Given the description of an element on the screen output the (x, y) to click on. 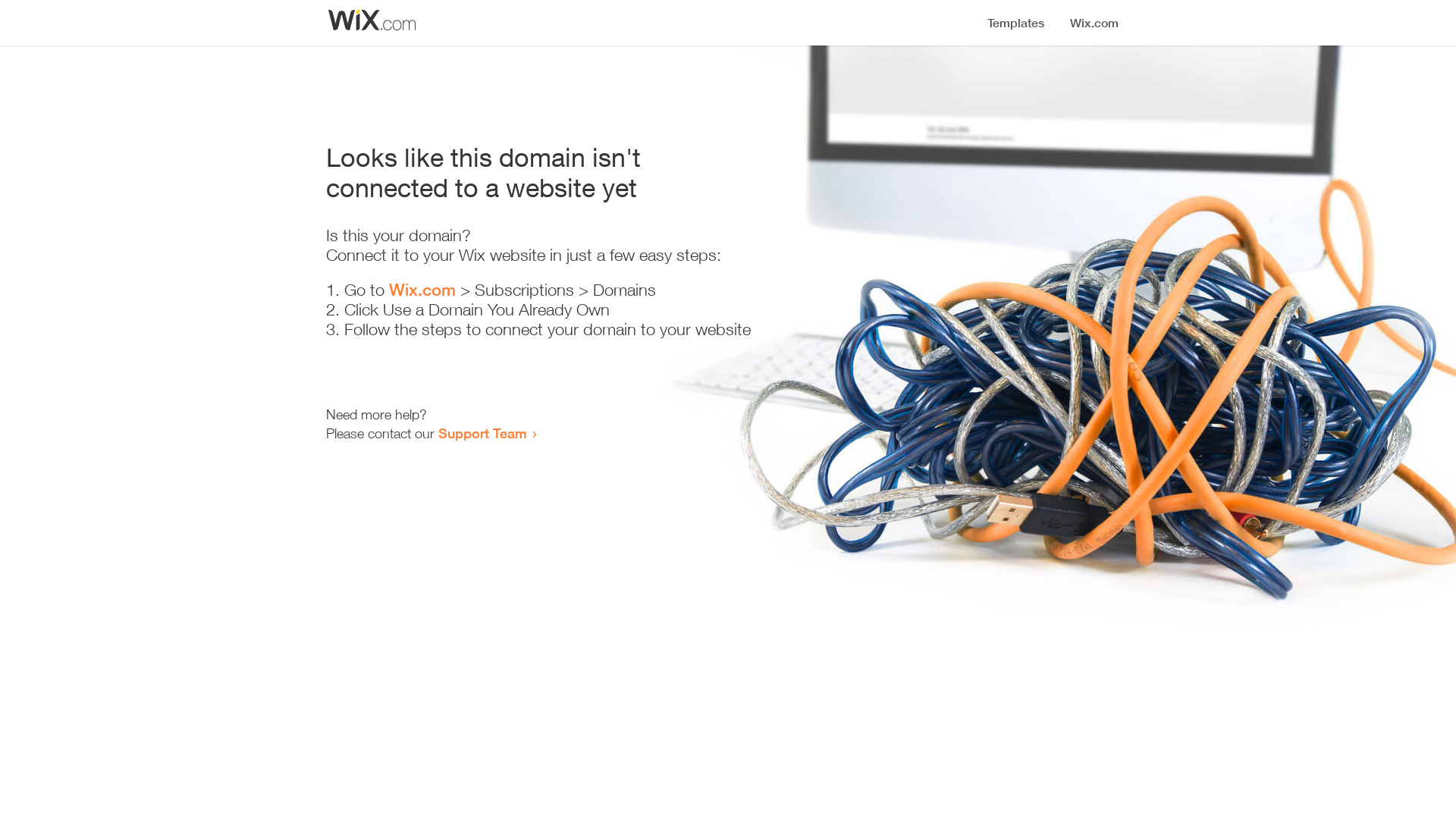
Wix.com Element type: text (422, 289)
Support Team Element type: text (482, 432)
